Given the description of an element on the screen output the (x, y) to click on. 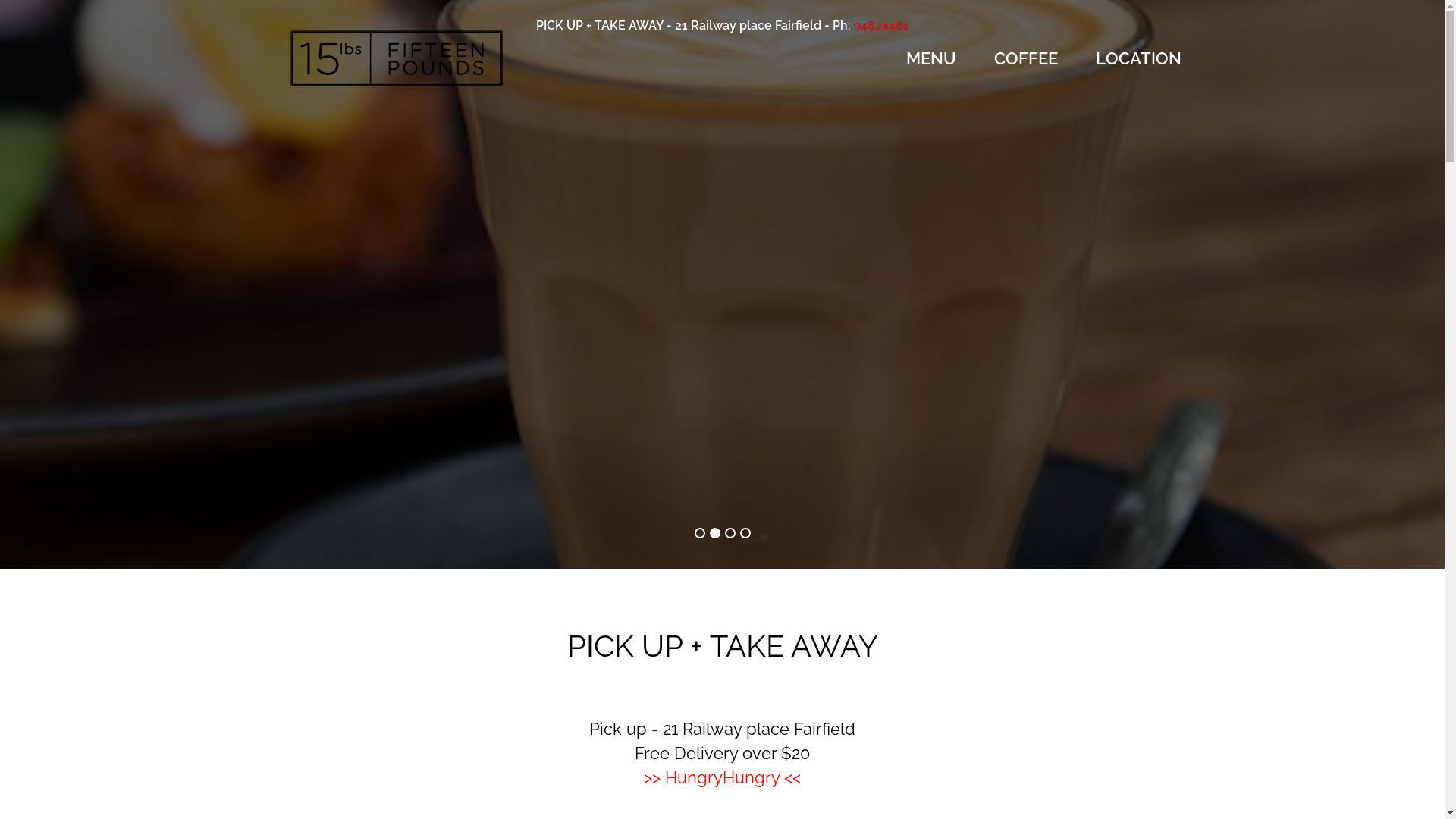
94824481 Element type: text (881, 25)
LOCATION Element type: text (1137, 58)
>> HungryHungry << Element type: text (721, 777)
COFFEE Element type: text (1025, 58)
Logo_fp Element type: hover (395, 58)
94824481 Element type: text (576, 146)
MENU Element type: text (930, 58)
